Given the description of an element on the screen output the (x, y) to click on. 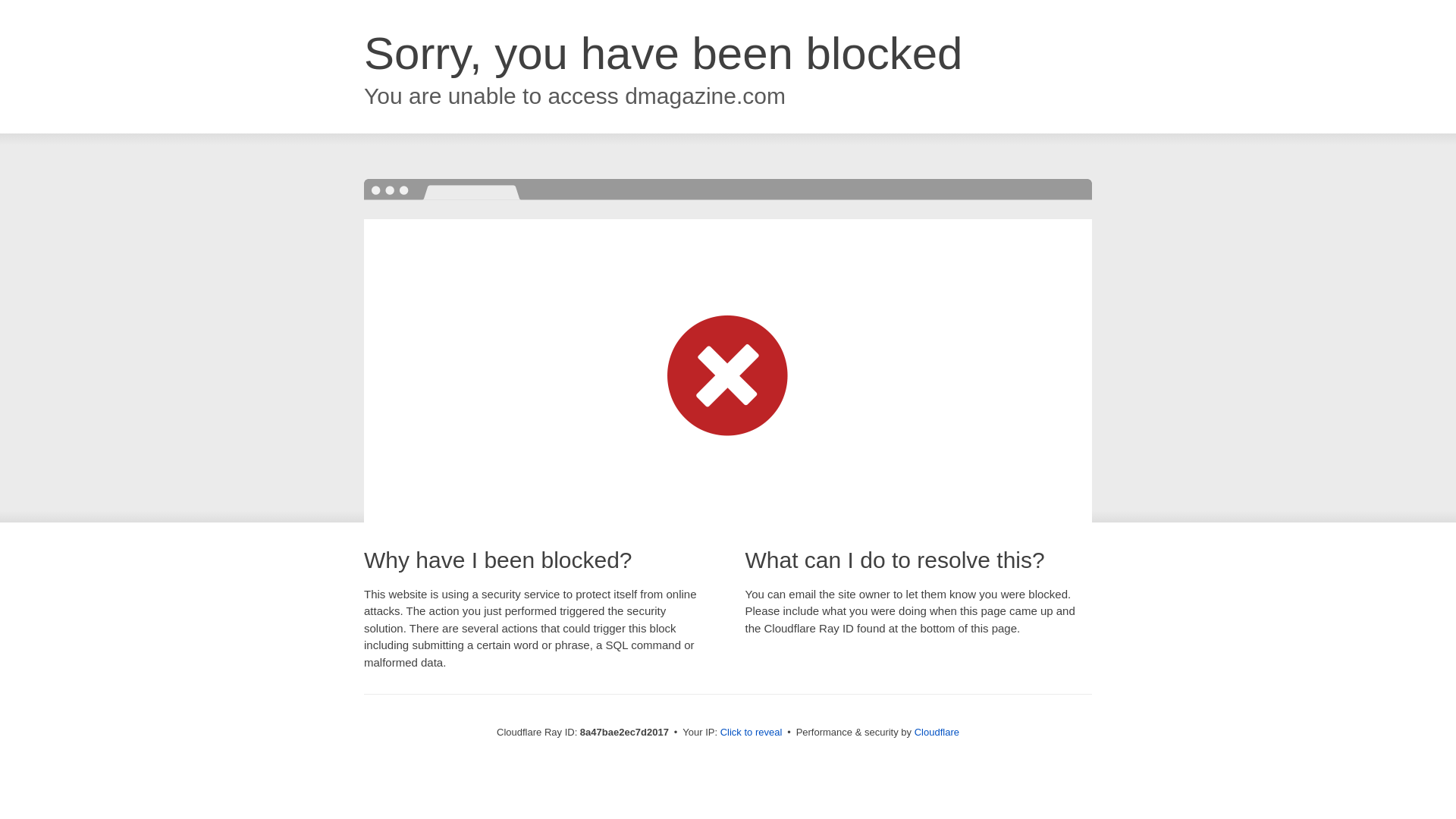
Cloudflare (936, 731)
Click to reveal (751, 732)
